Given the description of an element on the screen output the (x, y) to click on. 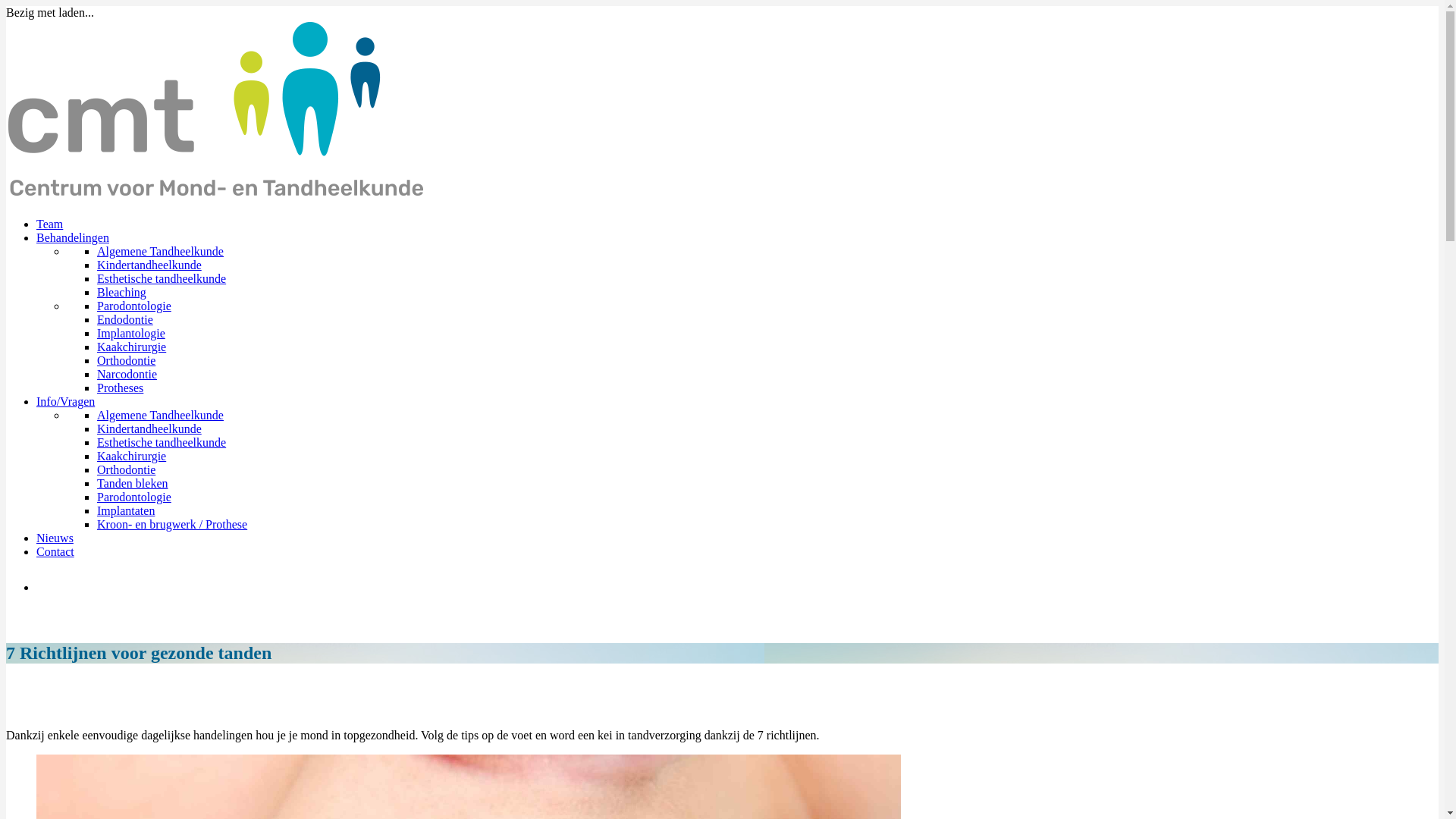
Implantaten Element type: text (125, 510)
Algemene Tandheelkunde Element type: text (160, 414)
Kindertandheelkunde Element type: text (149, 428)
Implantologie Element type: text (131, 332)
Parodontologie Element type: text (134, 305)
Behandelingen Element type: text (72, 237)
Kroon- en brugwerk / Prothese Element type: text (172, 523)
Algemene Tandheelkunde Element type: text (160, 250)
Kaakchirurgie Element type: text (131, 346)
Esthetische tandheelkunde Element type: text (161, 442)
Esthetische tandheelkunde Element type: text (161, 278)
CMT Aarschot Element type: hover (216, 110)
Protheses Element type: text (120, 387)
Tanden bleken Element type: text (132, 482)
Endodontie Element type: text (125, 319)
Nieuws Element type: text (54, 537)
Kindertandheelkunde Element type: text (149, 264)
Info/Vragen Element type: text (65, 401)
Parodontologie Element type: text (134, 496)
Orthodontie Element type: text (126, 360)
Contact Element type: text (55, 551)
Team Element type: text (49, 223)
Bleaching Element type: text (121, 291)
  Element type: text (37, 586)
Orthodontie Element type: text (126, 469)
Kaakchirurgie Element type: text (131, 455)
Narcodontie Element type: text (126, 373)
